Given the description of an element on the screen output the (x, y) to click on. 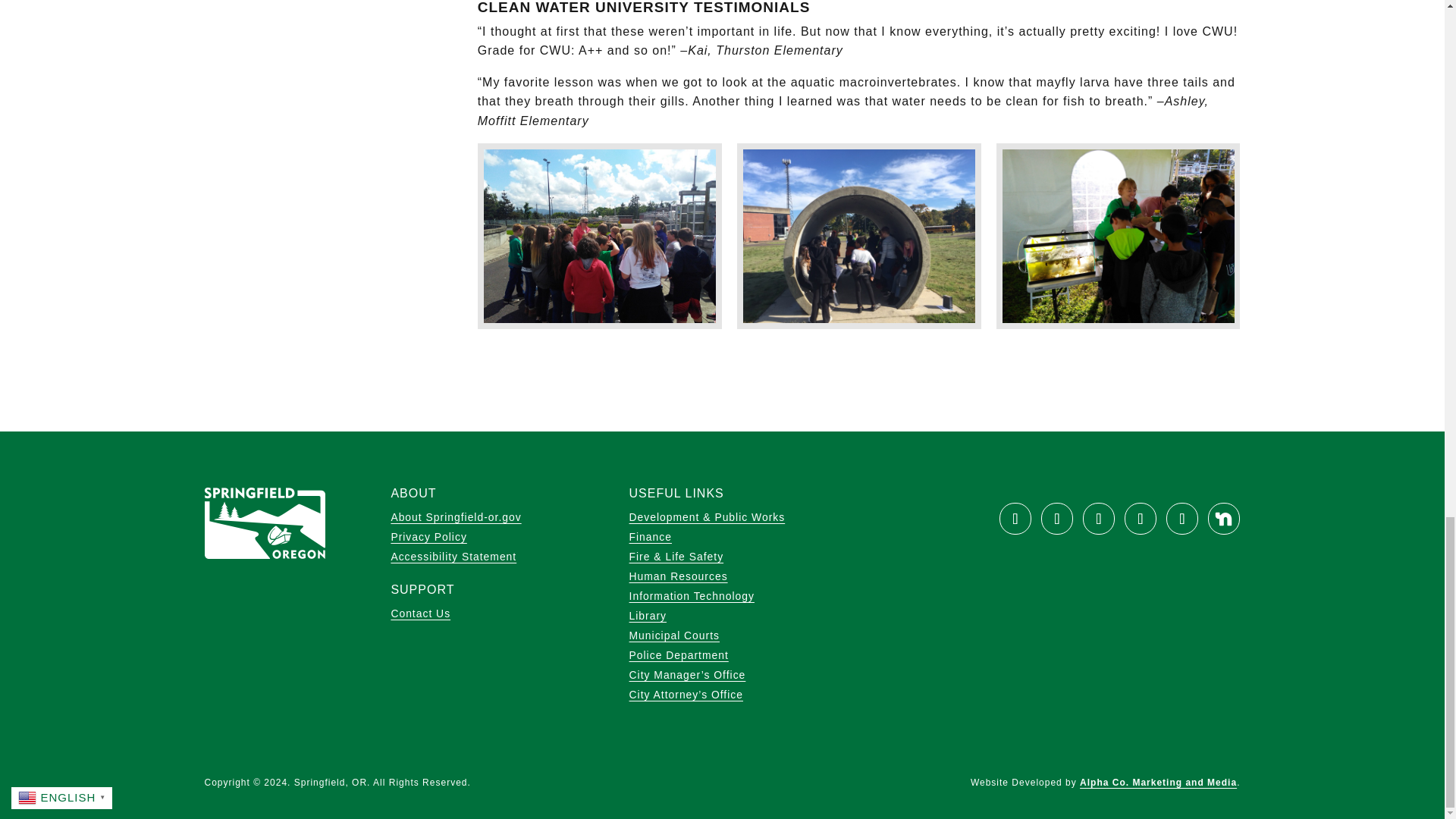
Follow on Nextdoor (1224, 518)
Follow on Youtube (1099, 518)
Alpha Co. Marketing and Media (1158, 782)
logo-SpringfieldOregon-white (264, 522)
Follow on X (1057, 518)
Follow on Instagram (1140, 518)
Follow on Facebook (1014, 518)
Follow on LinkedIn (1182, 518)
